Given the description of an element on the screen output the (x, y) to click on. 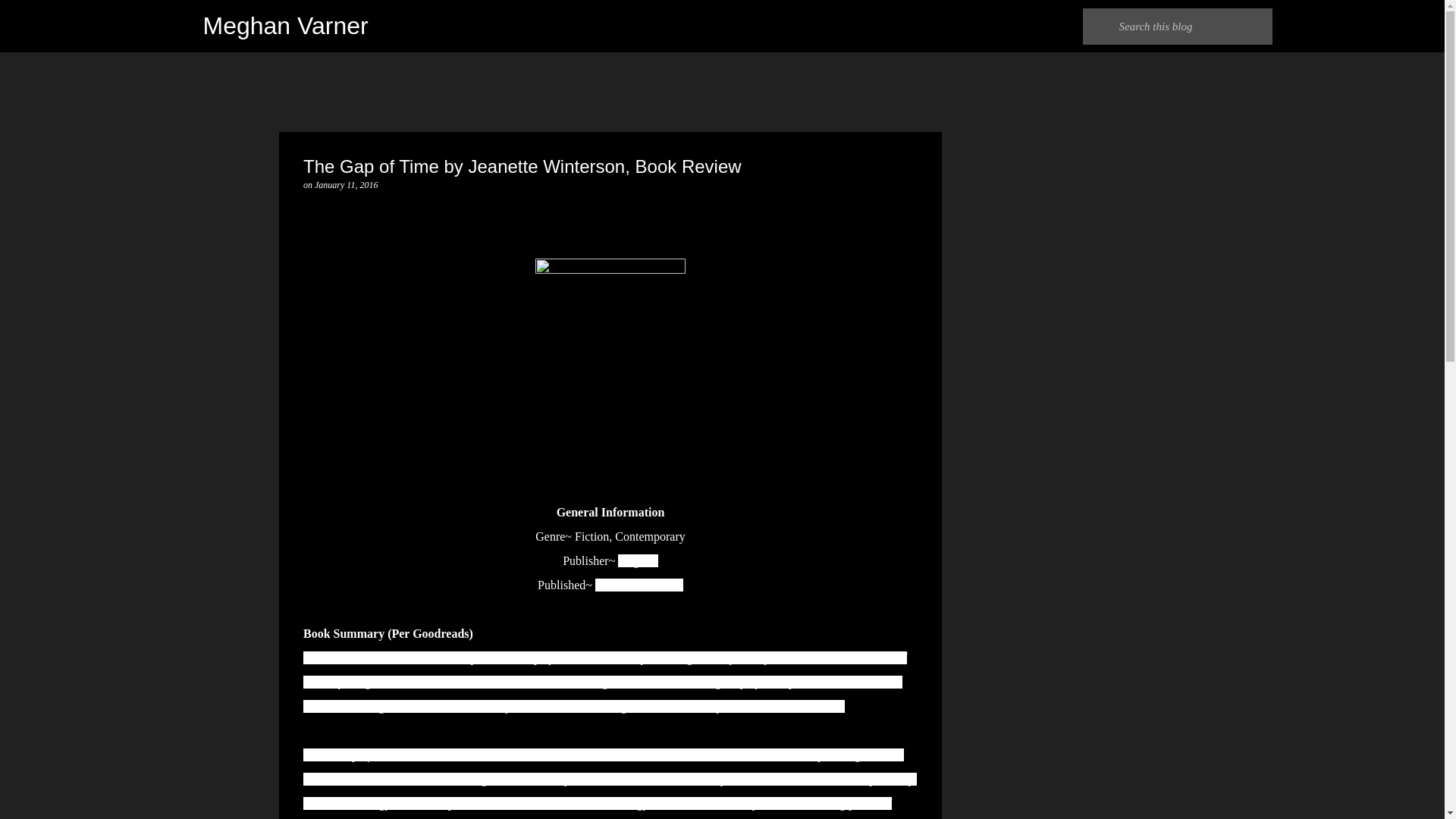
January 11, 2016 (345, 184)
permanent link (345, 184)
Meghan Varner (285, 25)
